Given the description of an element on the screen output the (x, y) to click on. 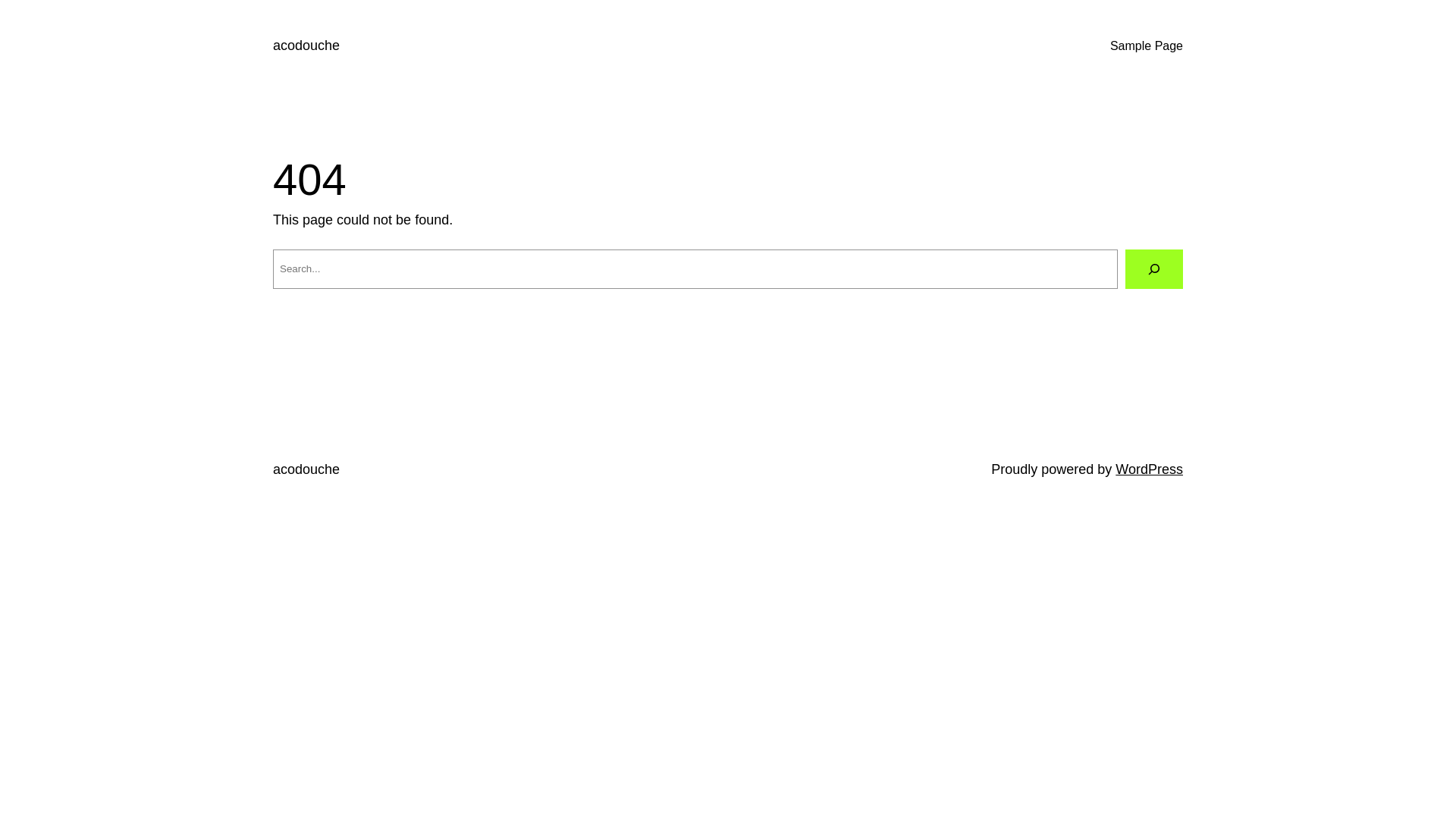
acodouche Element type: text (306, 468)
acodouche Element type: text (306, 45)
WordPress Element type: text (1149, 468)
Sample Page Element type: text (1146, 46)
